Given the description of an element on the screen output the (x, y) to click on. 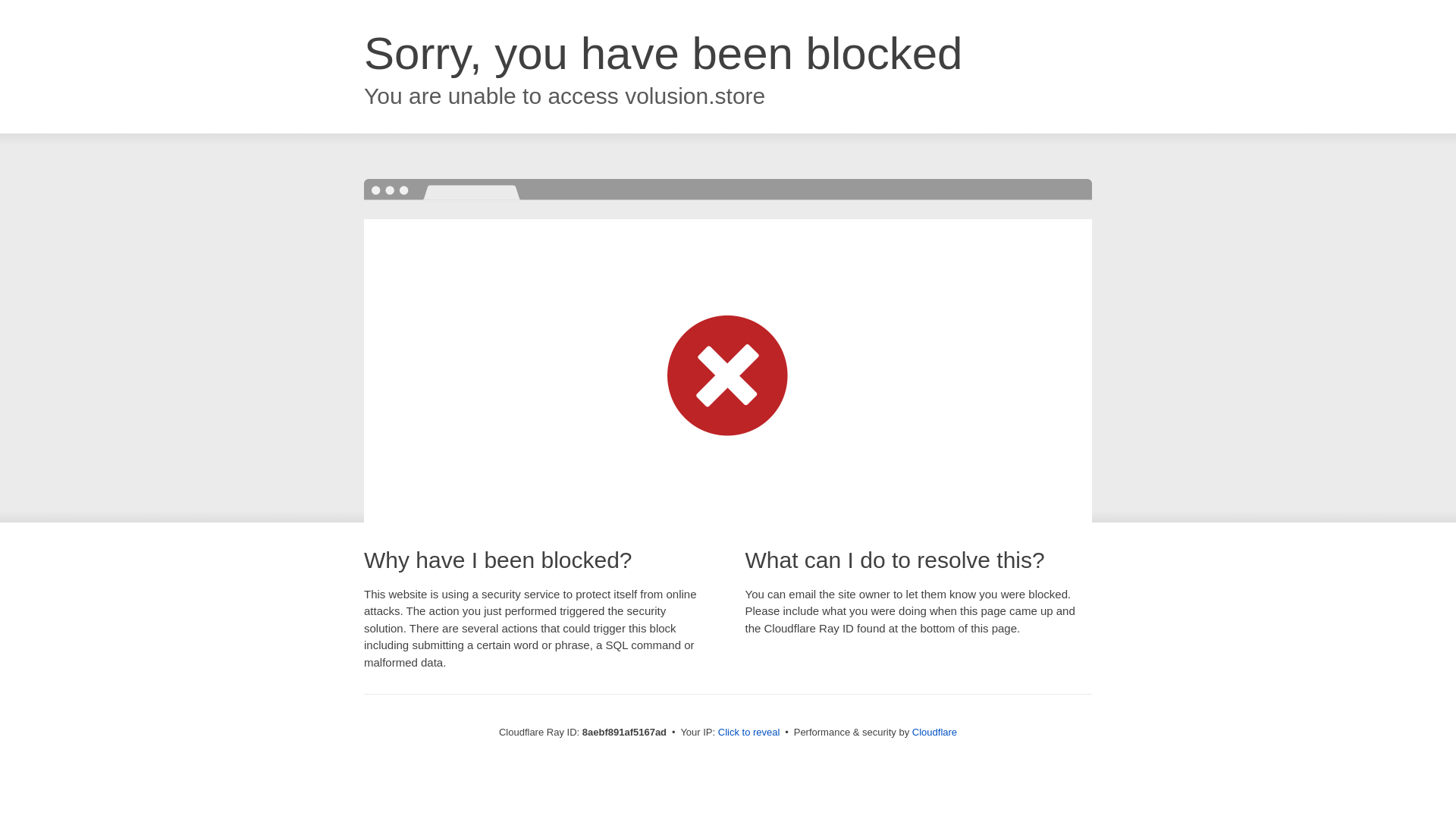
Cloudflare (934, 731)
Click to reveal (748, 732)
